Given the description of an element on the screen output the (x, y) to click on. 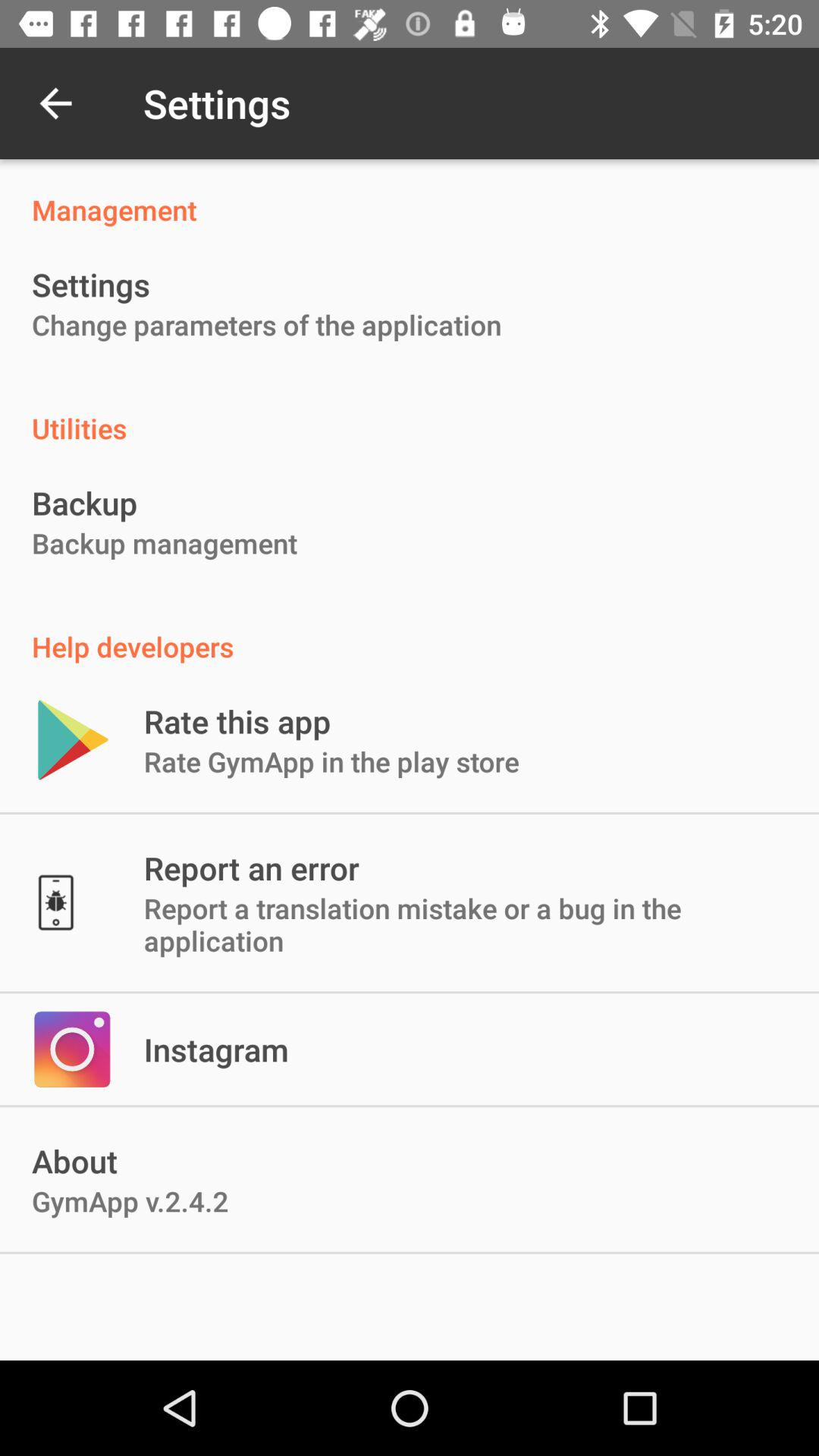
tap the item above gymapp v 2 (215, 1048)
